Given the description of an element on the screen output the (x, y) to click on. 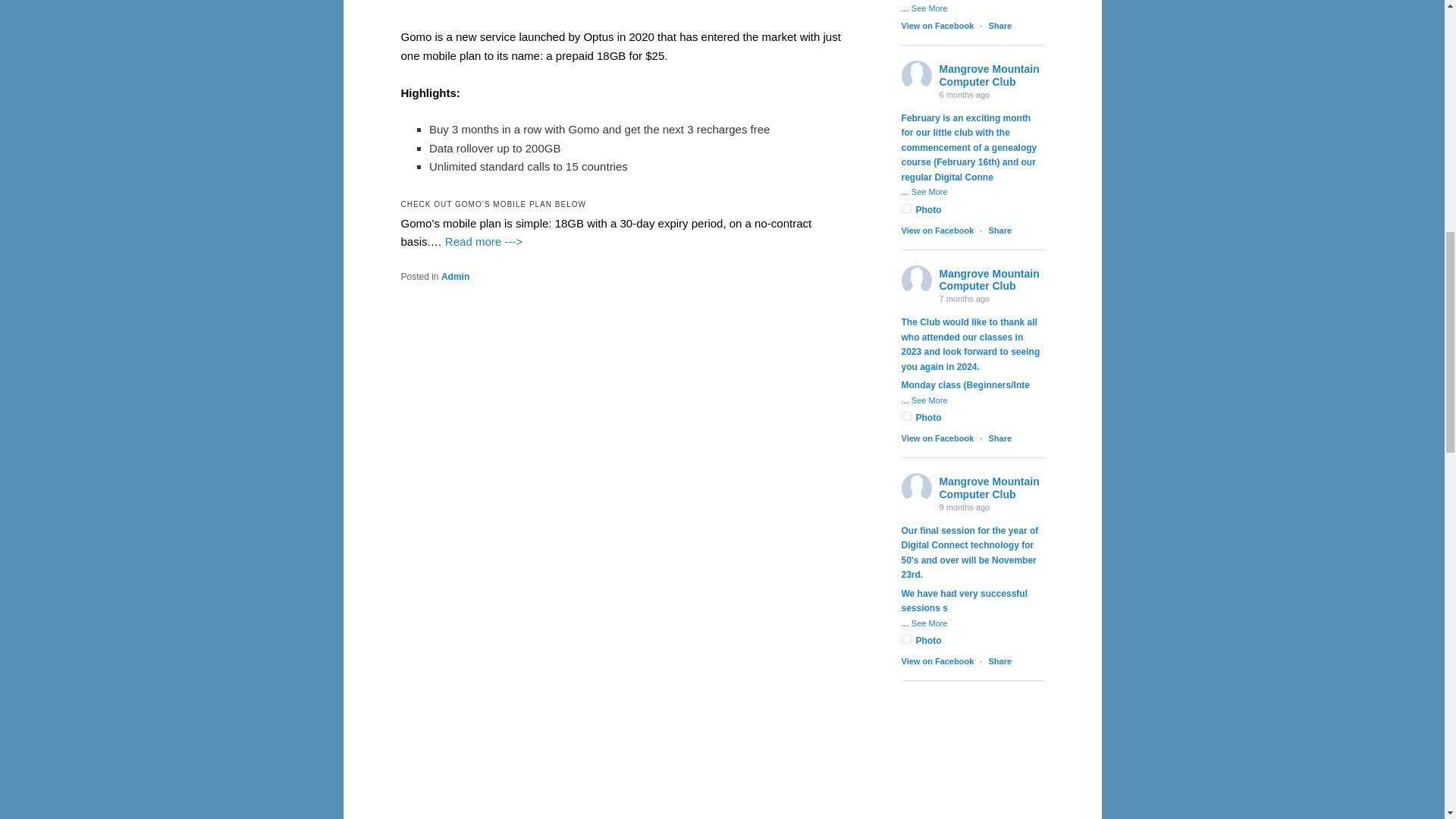
Admin (454, 276)
View on Facebook (937, 230)
View on Facebook (937, 25)
Share (999, 230)
Share (999, 25)
View on Facebook (937, 438)
